Given the description of an element on the screen output the (x, y) to click on. 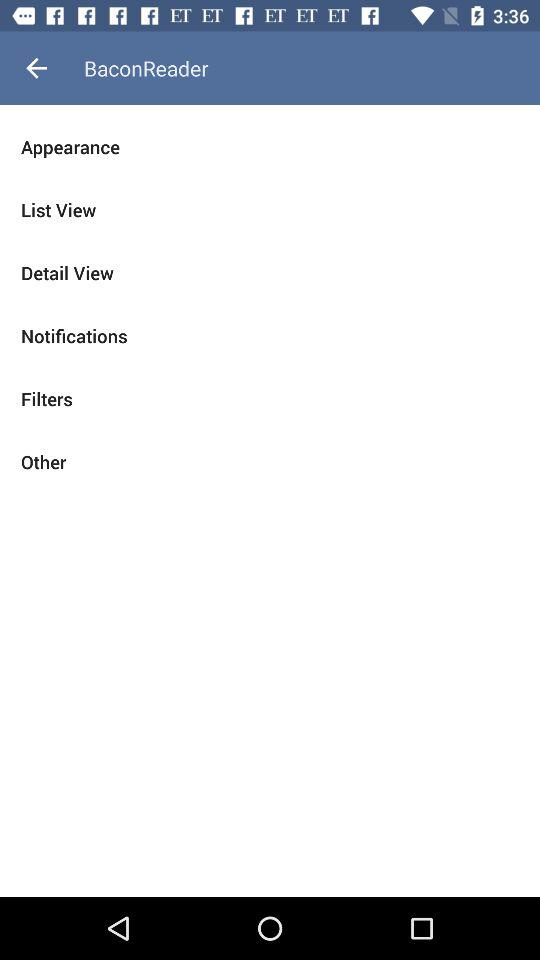
press list view (270, 209)
